Given the description of an element on the screen output the (x, y) to click on. 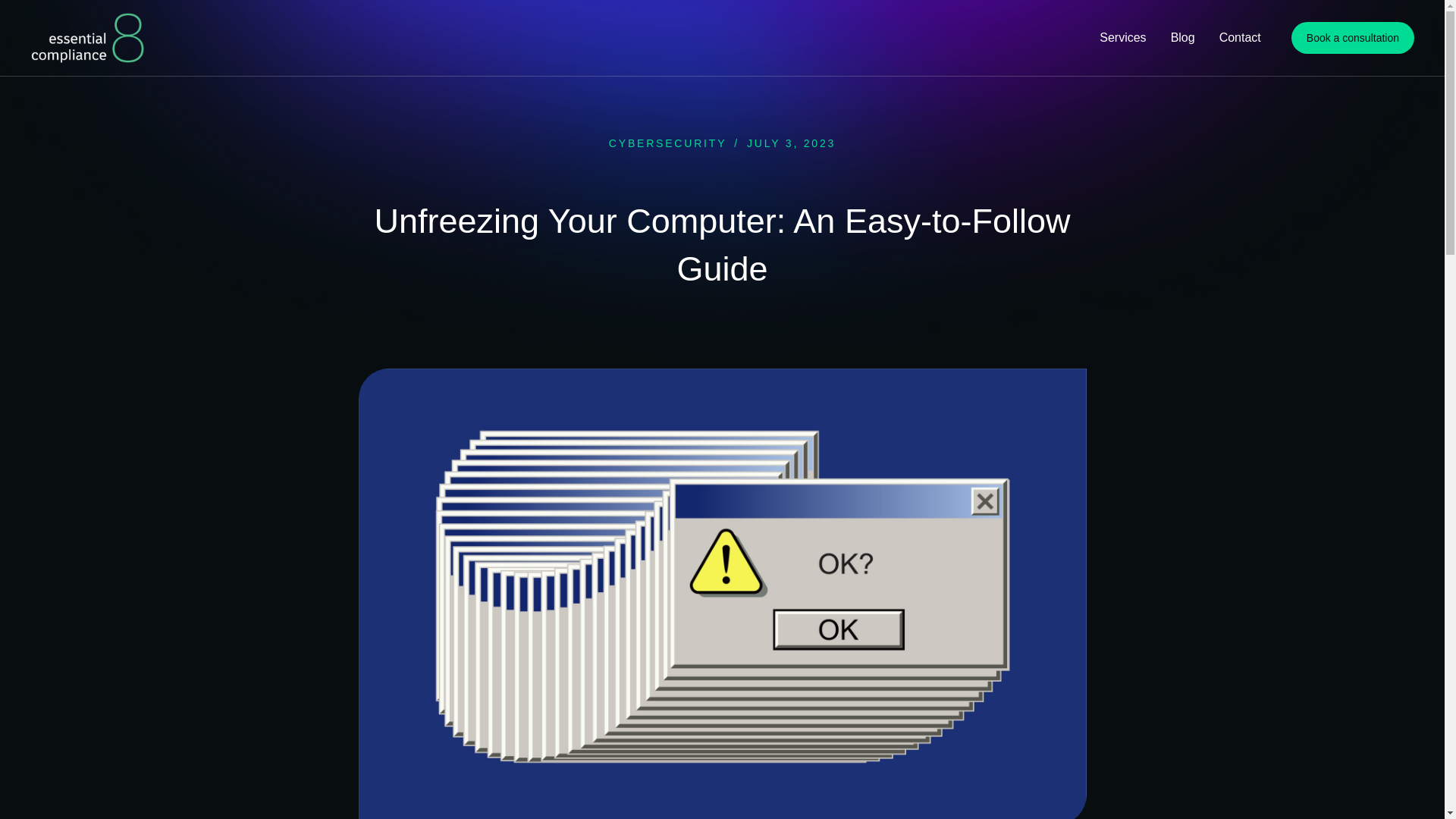
Book a consultation (1352, 38)
Services (1122, 38)
CYBERSECURITY (667, 143)
